Given the description of an element on the screen output the (x, y) to click on. 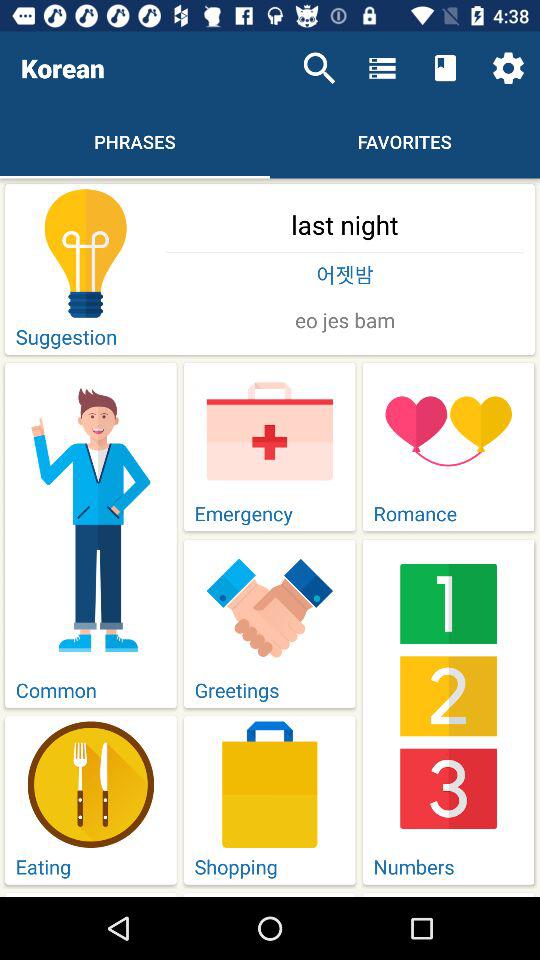
turn on icon above the favorites (444, 67)
